Given the description of an element on the screen output the (x, y) to click on. 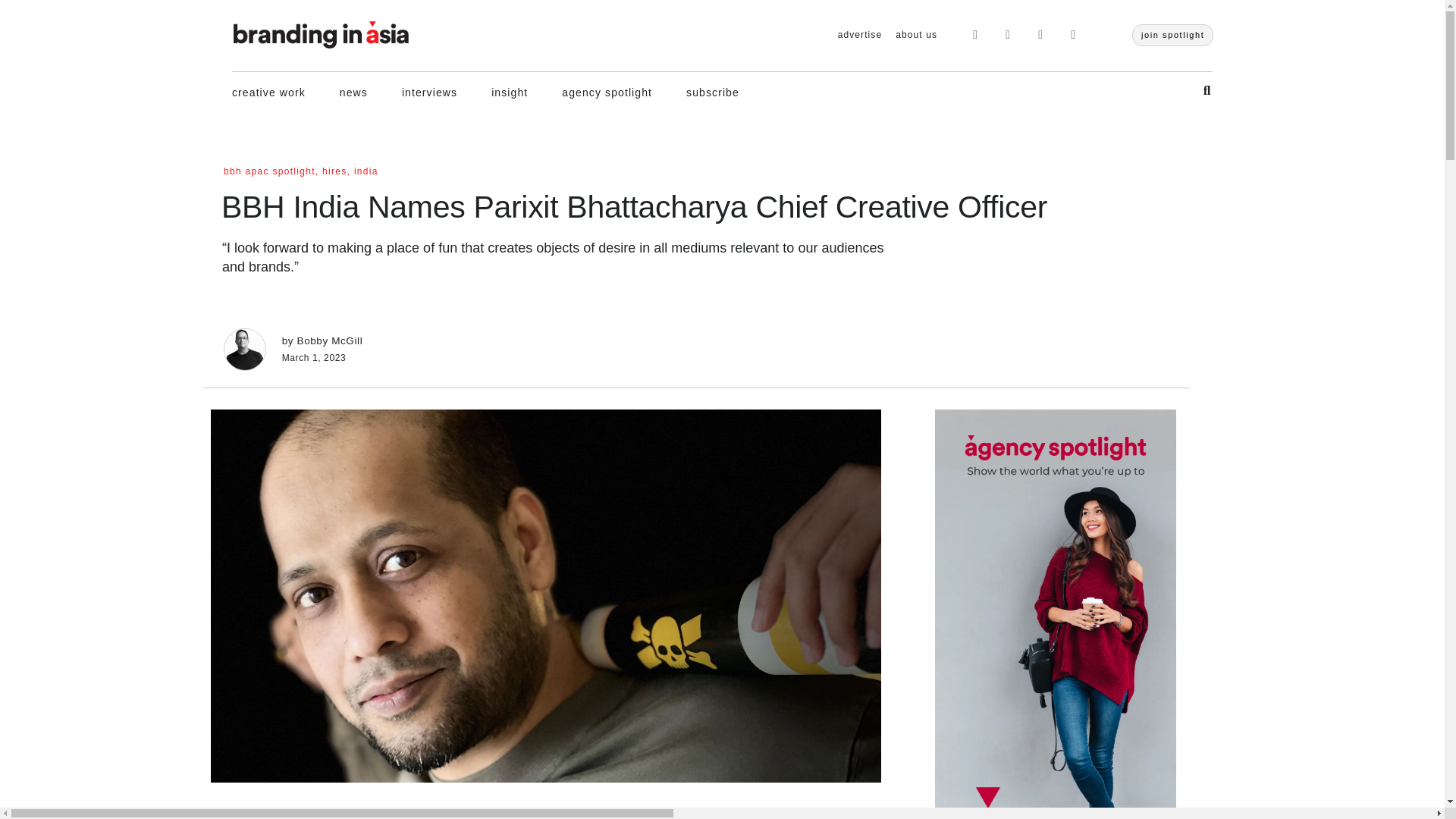
about us (915, 34)
news (353, 91)
interviews (429, 91)
subscribe (712, 91)
creative work (268, 91)
advertise (860, 34)
join spotlight (1173, 34)
agency spotlight (607, 91)
insight (509, 91)
